Given the description of an element on the screen output the (x, y) to click on. 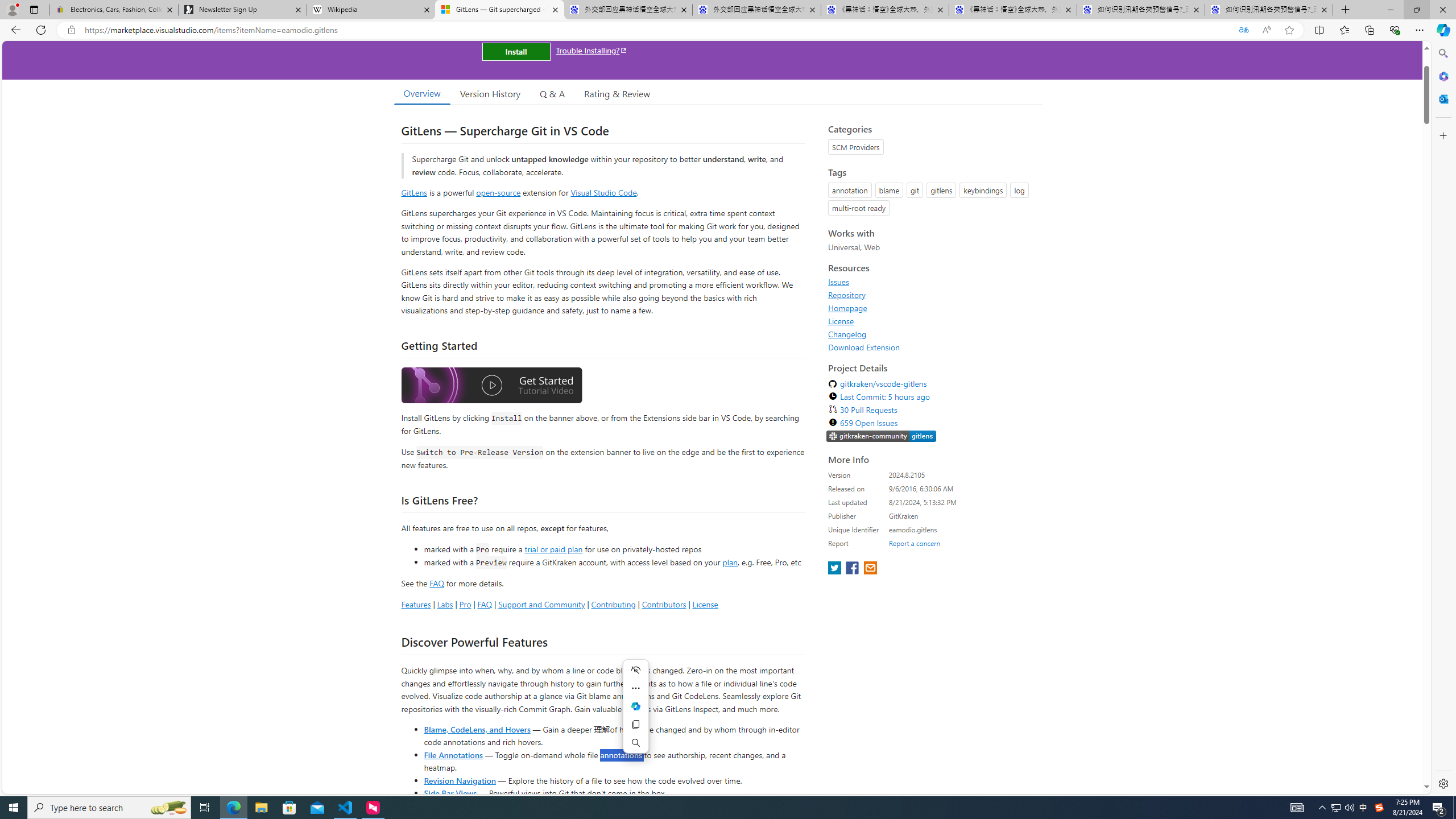
Electronics, Cars, Fashion, Collectibles & More | eBay (114, 9)
Q & A (552, 92)
Mini menu on text selection (636, 713)
Pro (464, 603)
License (931, 320)
Watch the GitLens Getting Started video (491, 387)
FAQ (484, 603)
Repository (931, 294)
share extension on facebook (853, 568)
Features (415, 603)
